Given the description of an element on the screen output the (x, y) to click on. 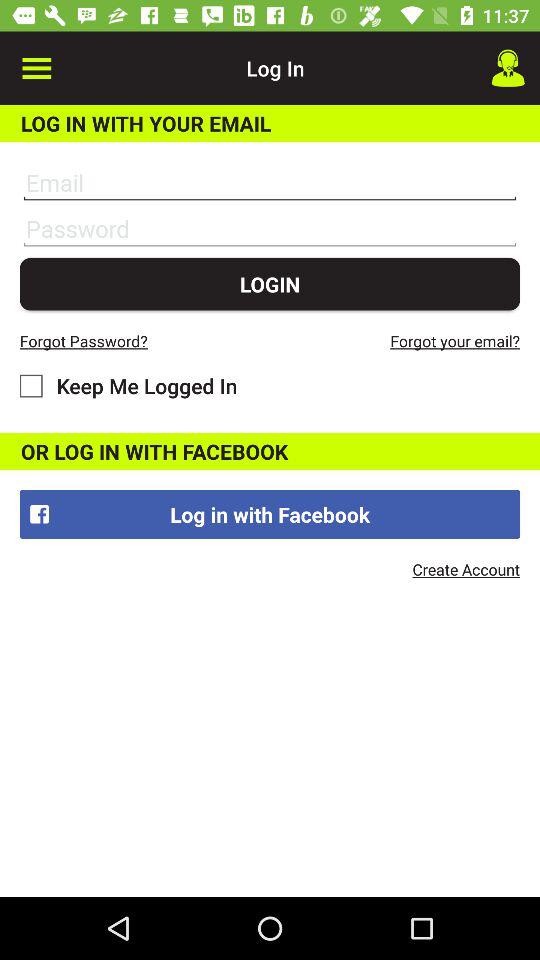
jump until keep me logged item (128, 385)
